Given the description of an element on the screen output the (x, y) to click on. 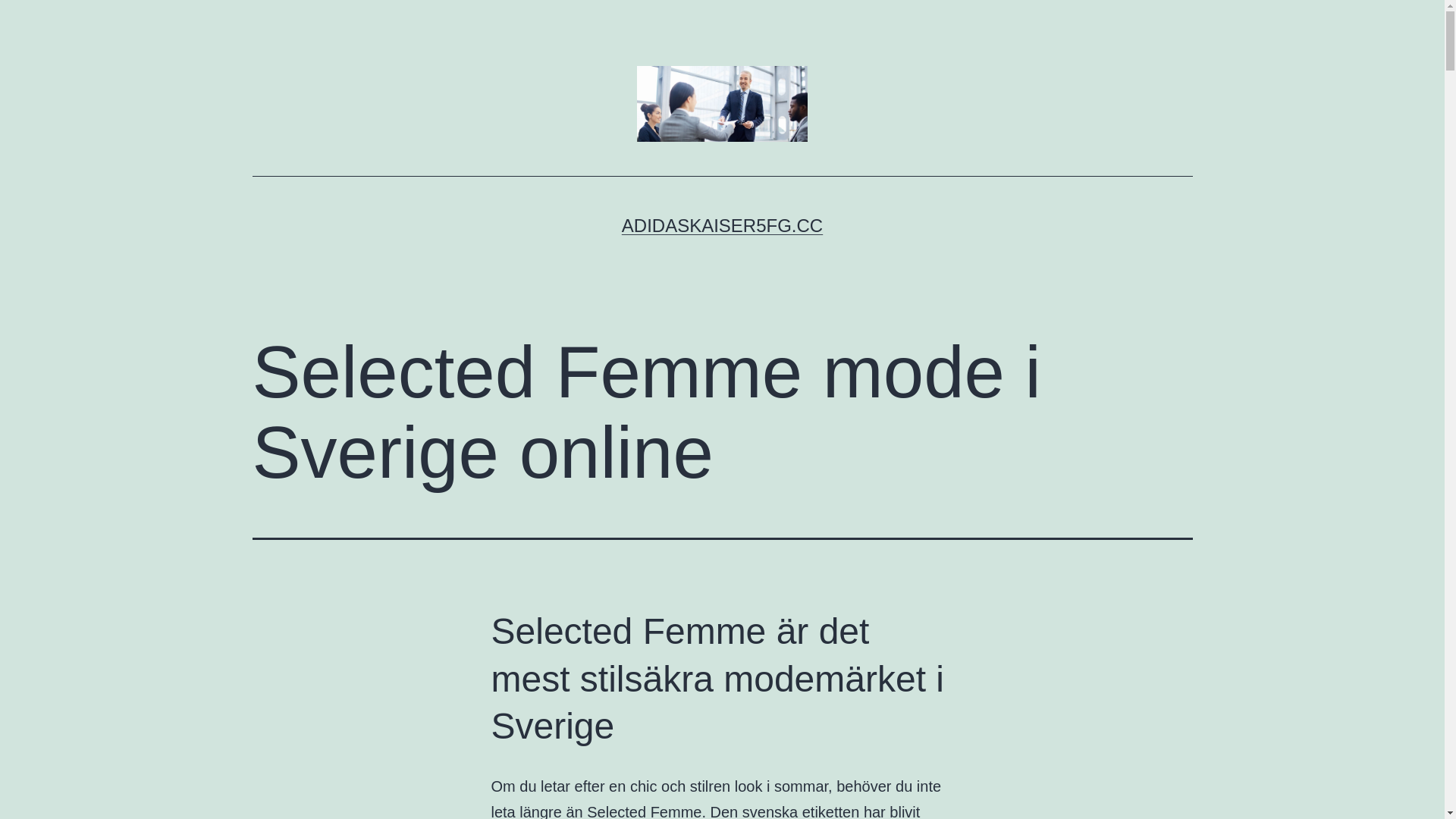
ADIDASKAISER5FG.CC Element type: text (721, 225)
